Given the description of an element on the screen output the (x, y) to click on. 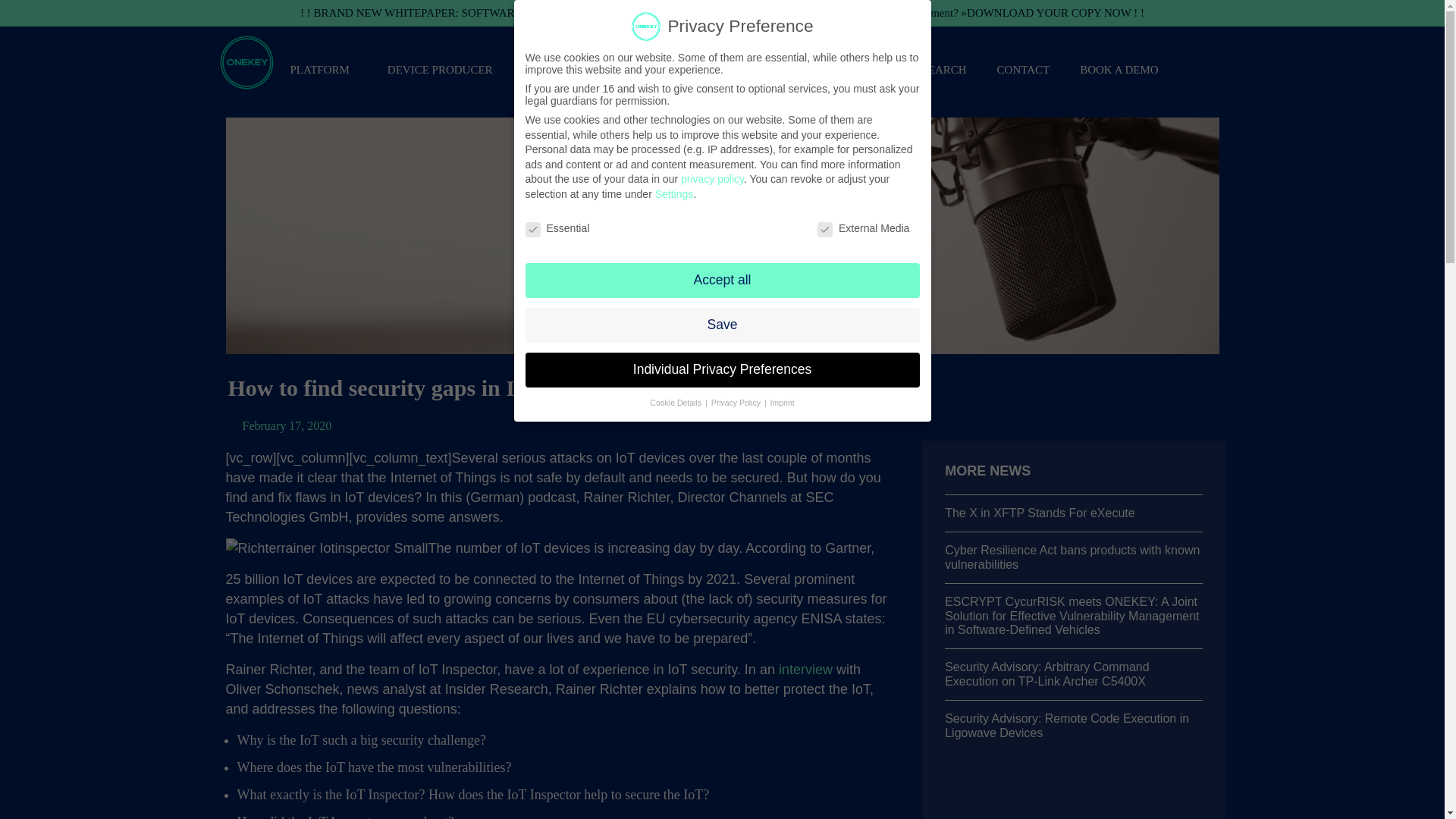
BOOK A DEMO (1118, 68)
CONSULTING (692, 68)
NEWS (860, 68)
DEVICE PRODUCER (440, 68)
DEVICE OPERATOR (575, 68)
CONTACT (1023, 68)
RESEARCH (936, 68)
COMPANY (785, 68)
PLATFORM (323, 68)
